Given the description of an element on the screen output the (x, y) to click on. 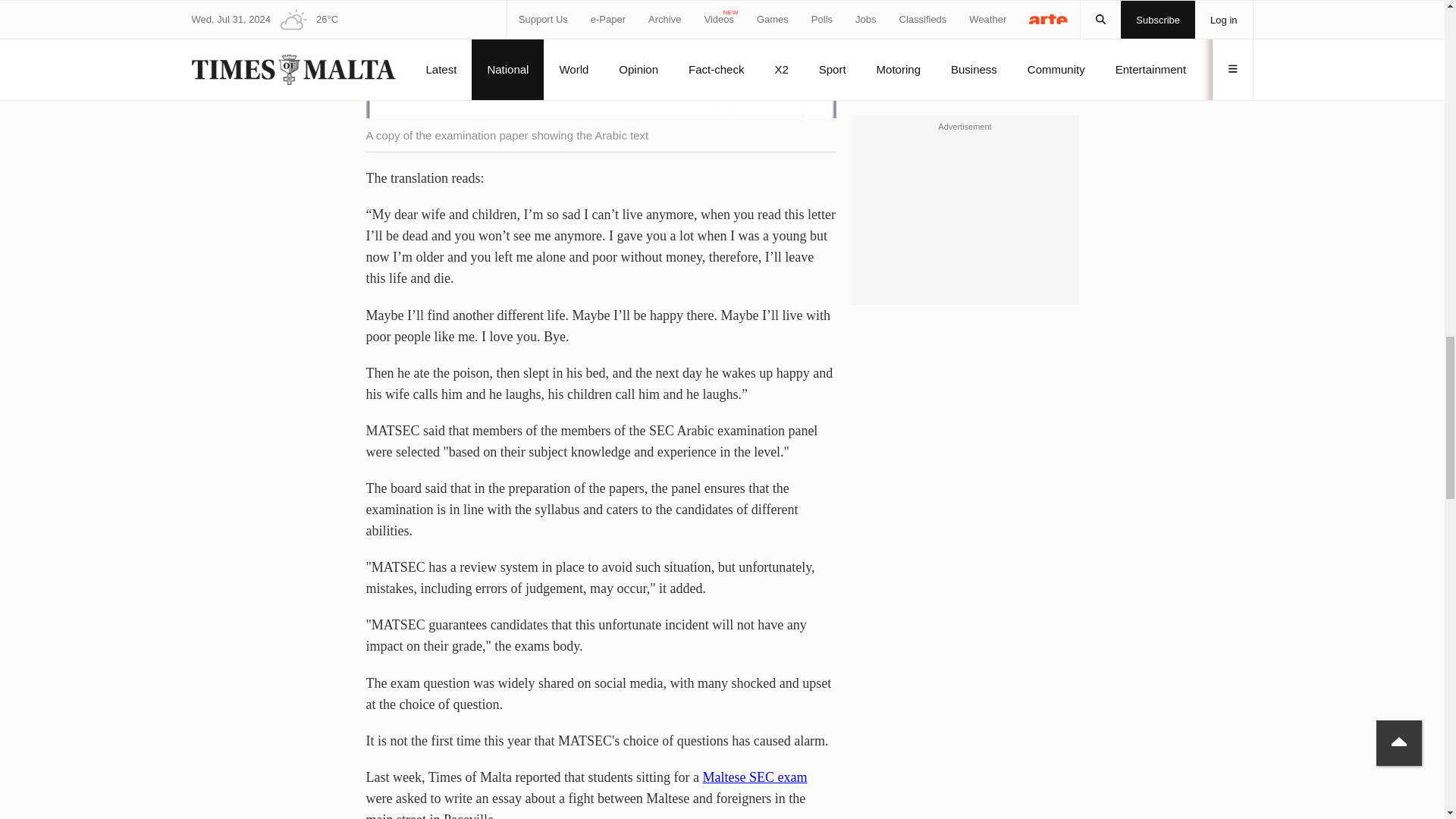
Maltese SEC exam (753, 776)
A copy of the examination paper showing the Arabic text (600, 58)
